Given the description of an element on the screen output the (x, y) to click on. 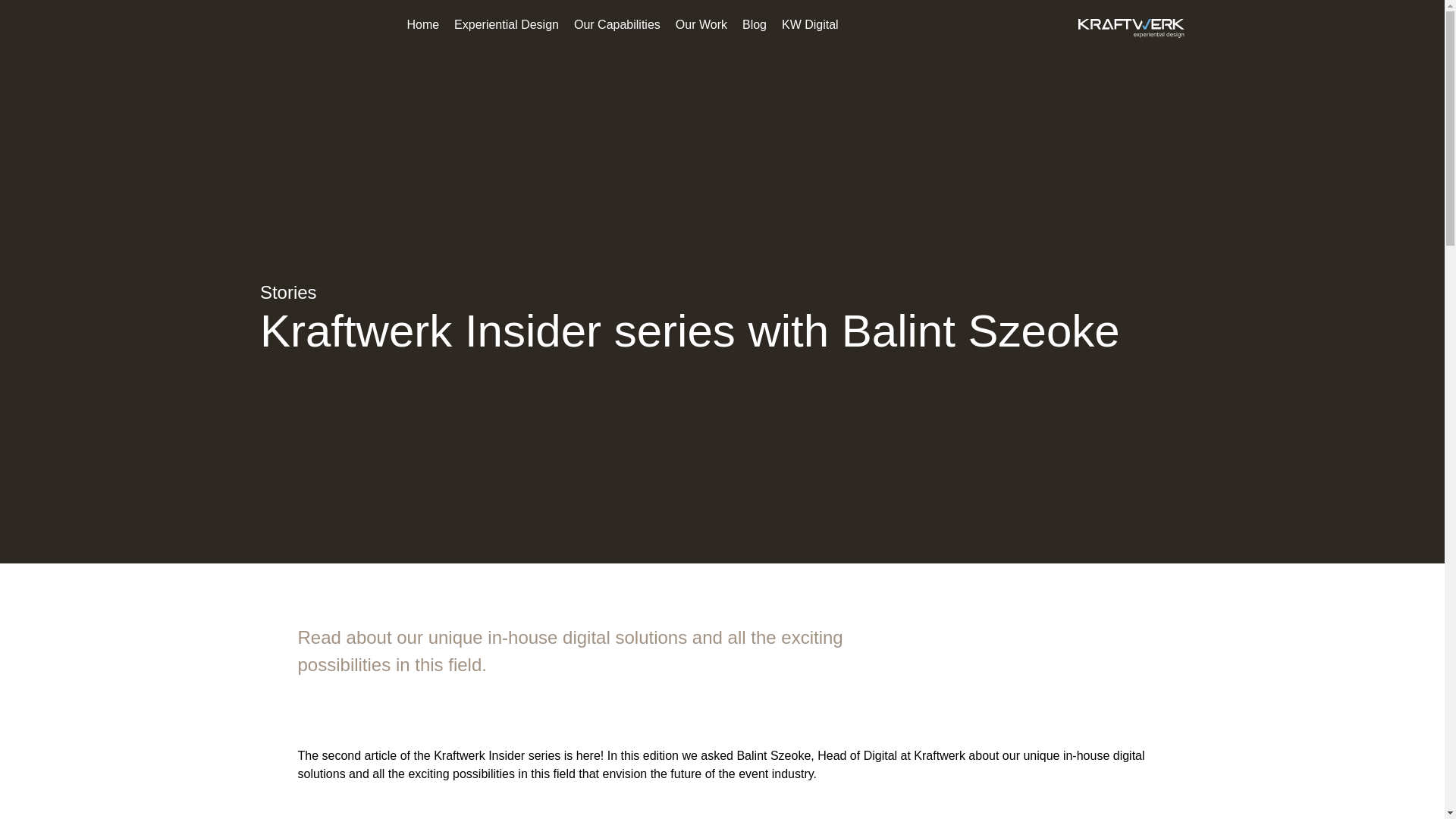
Our Capabilities (617, 23)
Our Work (700, 23)
KW Digital (809, 23)
Experiential Design (506, 23)
Blog (754, 23)
Home (422, 23)
